Given the description of an element on the screen output the (x, y) to click on. 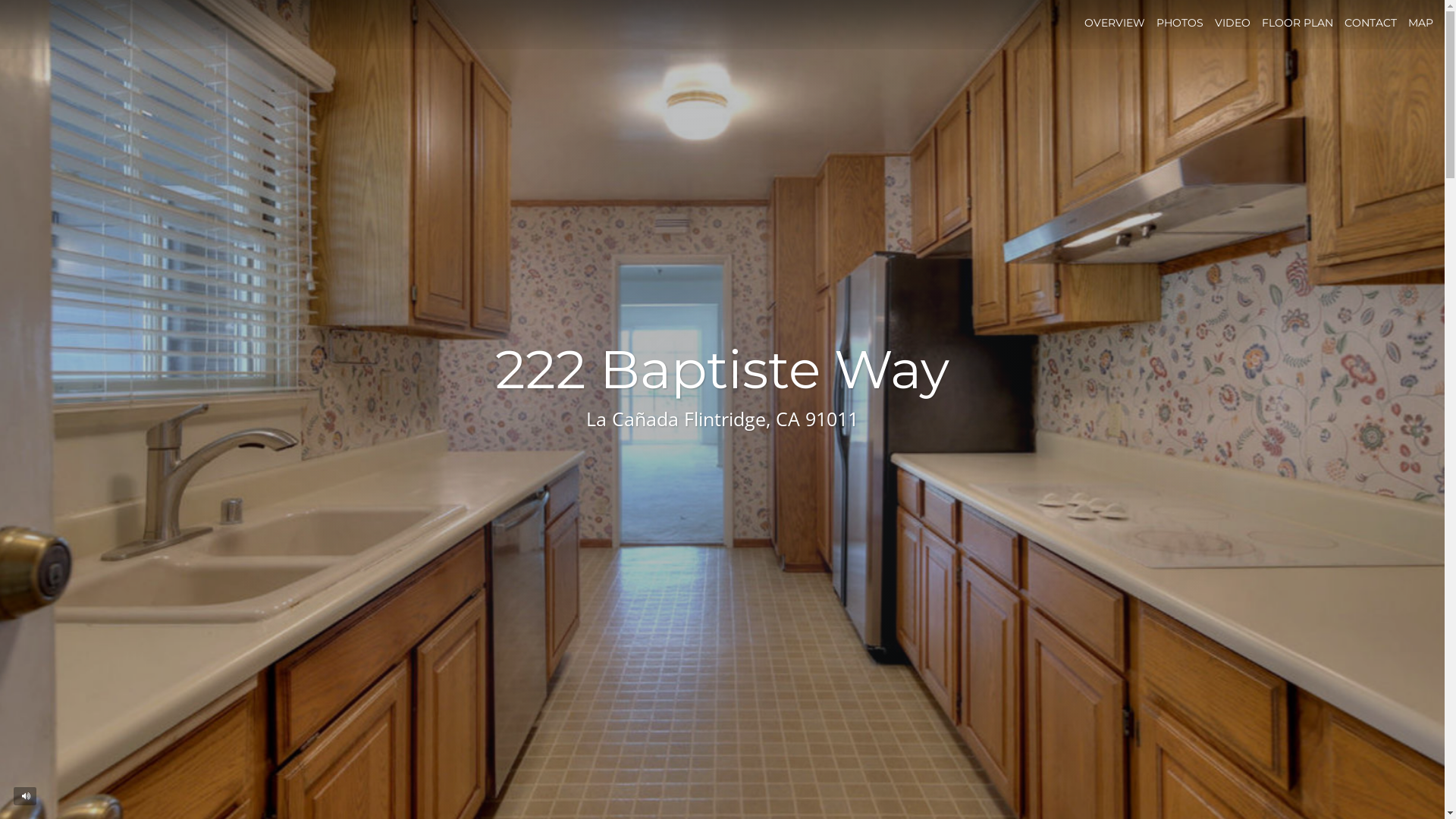
CONTACT Element type: text (1370, 22)
OVERVIEW Element type: text (1114, 22)
VIDEO Element type: text (1232, 22)
FLOOR PLAN Element type: text (1297, 22)
MAP Element type: text (1420, 22)
PHOTOS Element type: text (1179, 22)
